Given the description of an element on the screen output the (x, y) to click on. 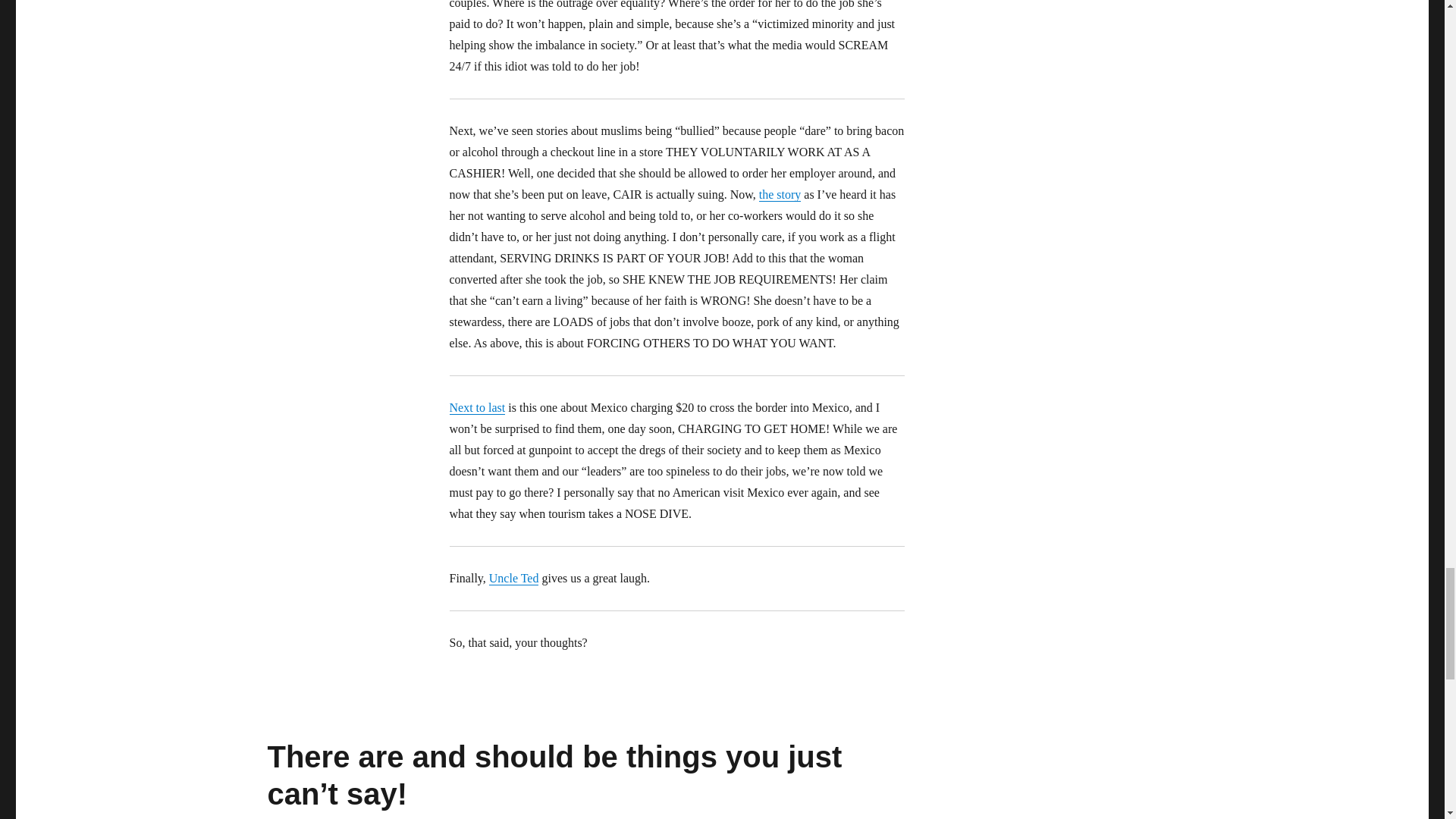
Next to last (476, 407)
Uncle Ted (513, 577)
the story (780, 194)
